Given the description of an element on the screen output the (x, y) to click on. 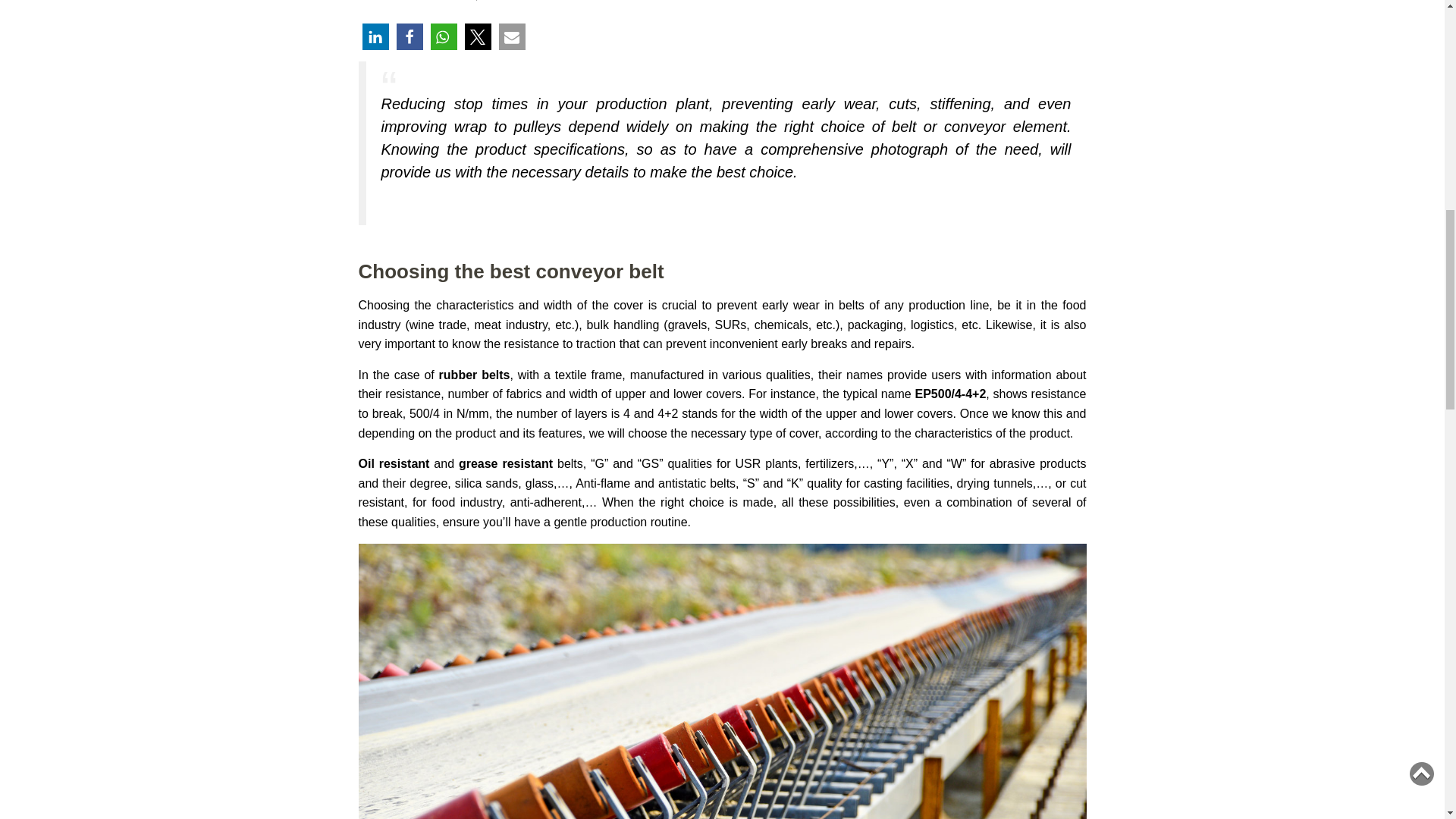
Compartir en LinkedIn (375, 36)
Compartir en X (477, 36)
Compartir en Whatsapp (443, 36)
Compartir en Facebook (409, 36)
